Given the description of an element on the screen output the (x, y) to click on. 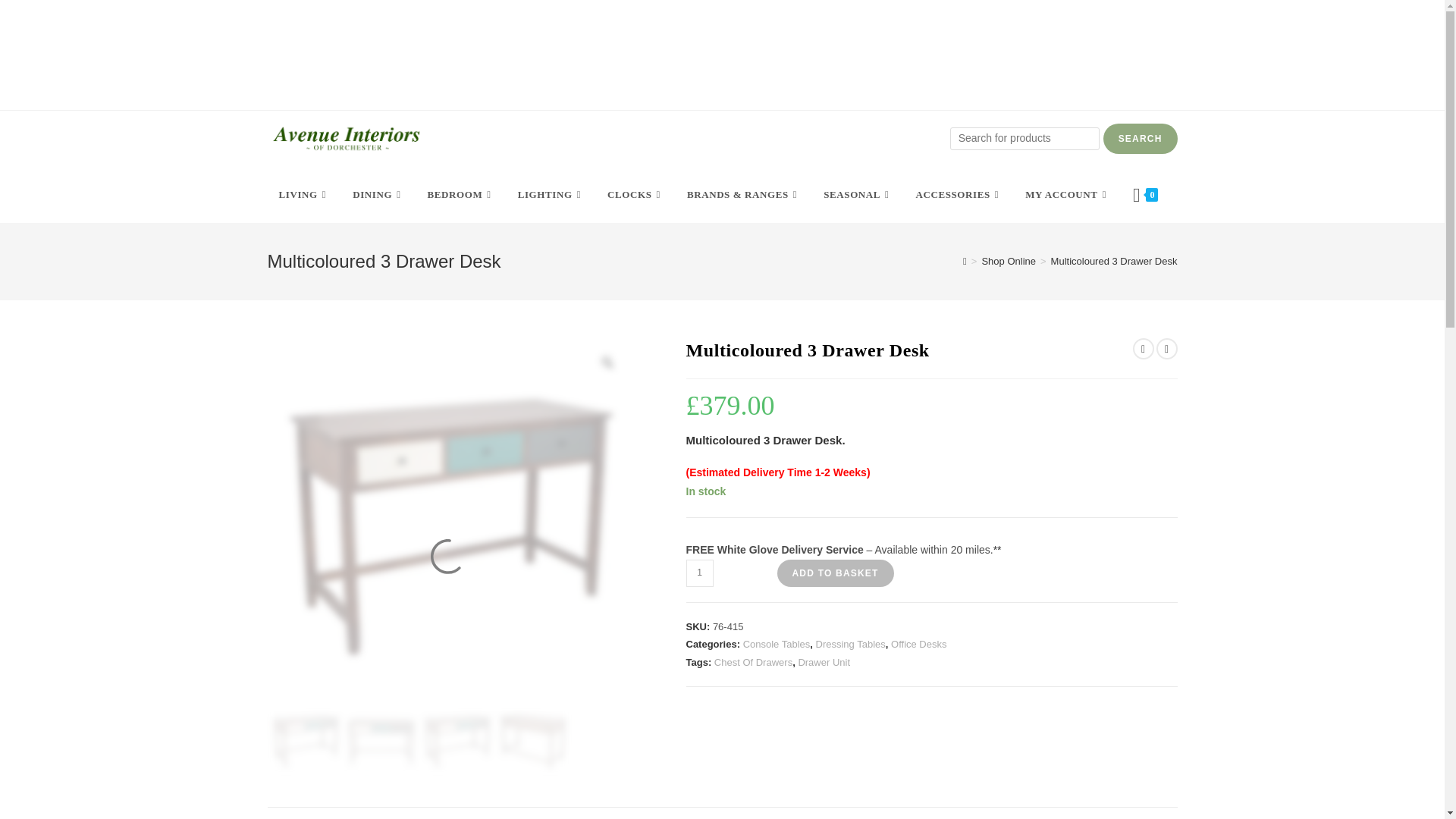
Multicoloured 3 Drawer Desk 1 (457, 739)
Search (1140, 138)
Multicoloured 3 Drawer Desk 1 (304, 739)
Multicoloured 3 Drawer Desk 1 (448, 519)
BEDROOM (459, 194)
Multicoloured 3 Drawer Desk (380, 739)
Search (1140, 138)
1 (699, 573)
Multicoloured 3 Drawer Desk 4 (532, 739)
LIVING (303, 194)
